Given the description of an element on the screen output the (x, y) to click on. 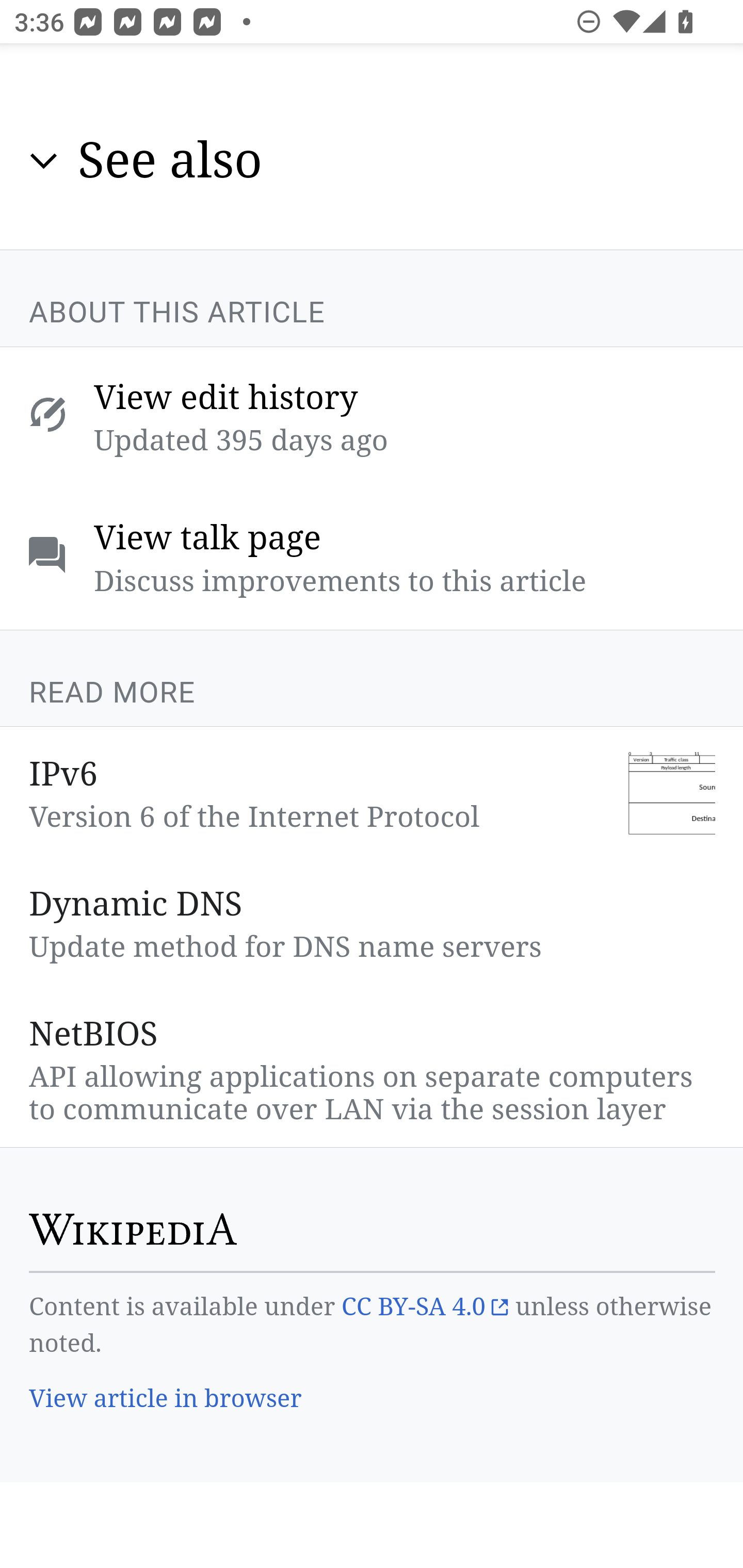
Expand section See also (372, 162)
Expand section (43, 161)
CC BY-SA 4.0 (423, 1307)
View article in browser (165, 1399)
